Given the description of an element on the screen output the (x, y) to click on. 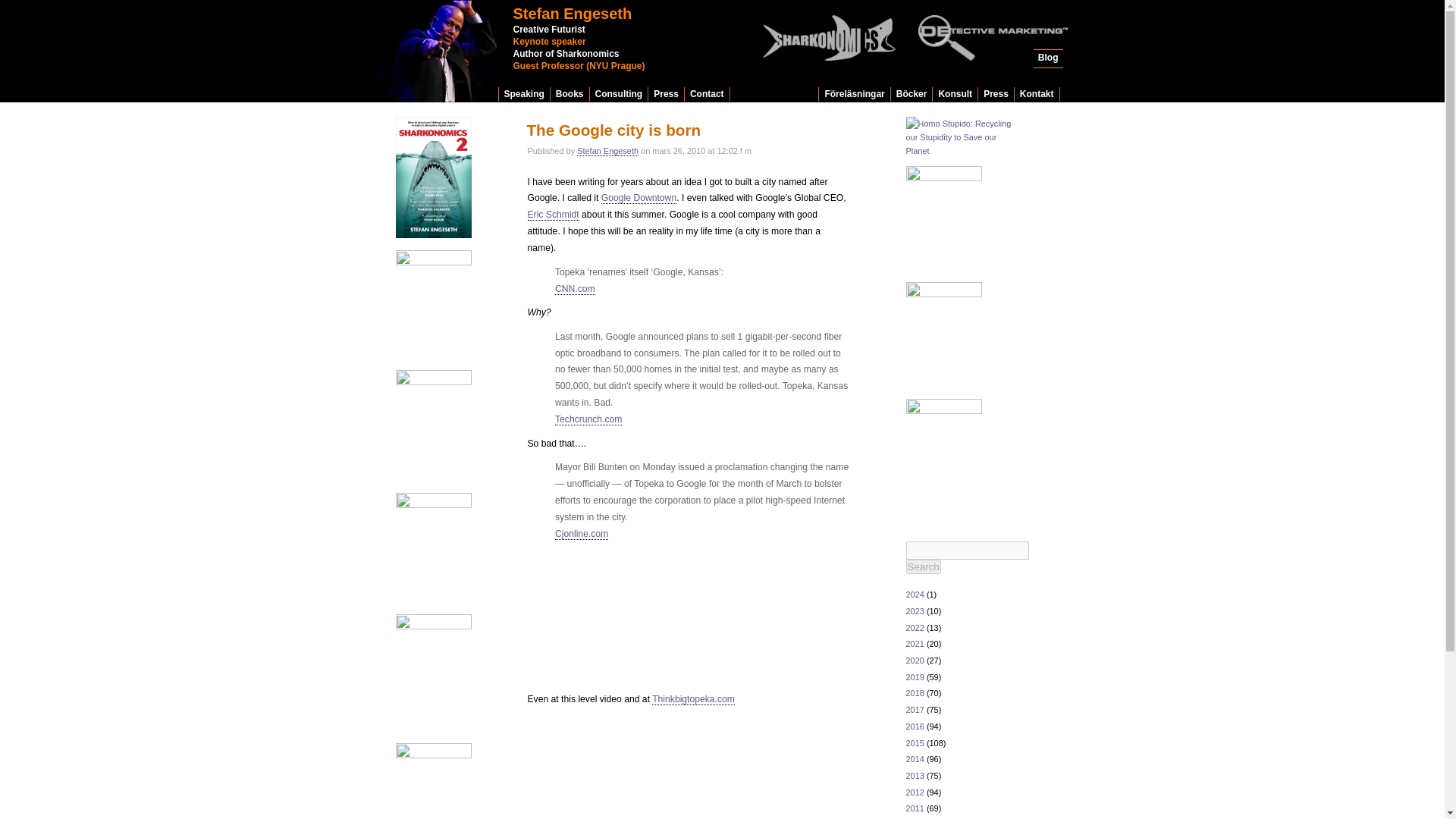
Author of Sharkonomics (565, 53)
Konsult (954, 93)
Eric Schmidt (553, 214)
Detectivemarketing.com (565, 53)
Stefan Engeseth (571, 13)
Kontakt (1036, 93)
Creative Futurist (548, 29)
Speaking (524, 93)
CNN.com (574, 288)
Detectivemarketing.com (548, 41)
